Given the description of an element on the screen output the (x, y) to click on. 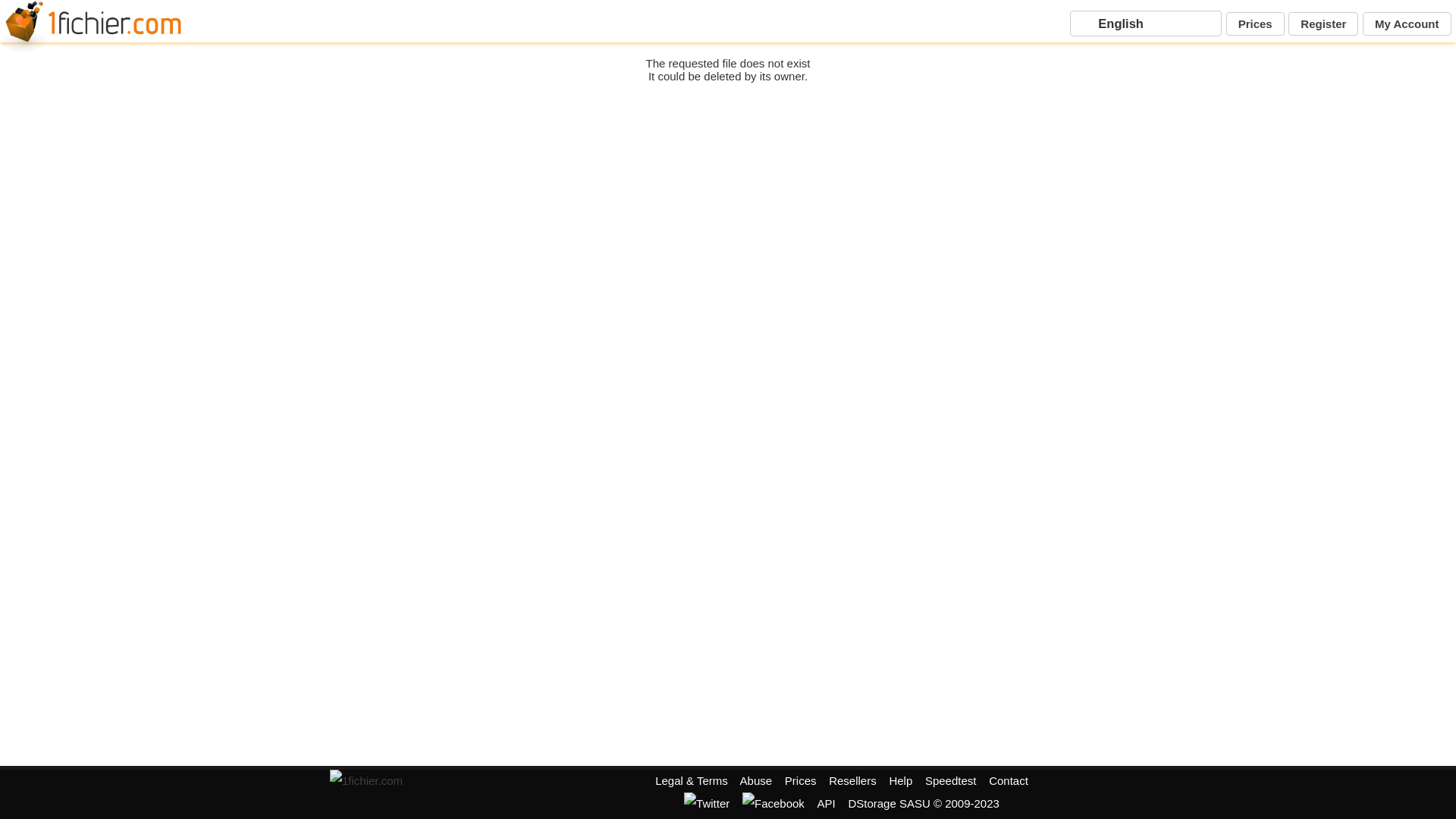
API Element type: text (826, 803)
Register Element type: text (1323, 23)
Abuse Element type: text (756, 780)
My Account Element type: text (1406, 23)
Help Element type: text (900, 780)
Resellers Element type: text (852, 780)
Speedtest Element type: text (950, 780)
Contact Element type: text (1008, 780)
Prices Element type: text (800, 780)
Prices Element type: text (1255, 23)
Legal & Terms Element type: text (691, 780)
